Given the description of an element on the screen output the (x, y) to click on. 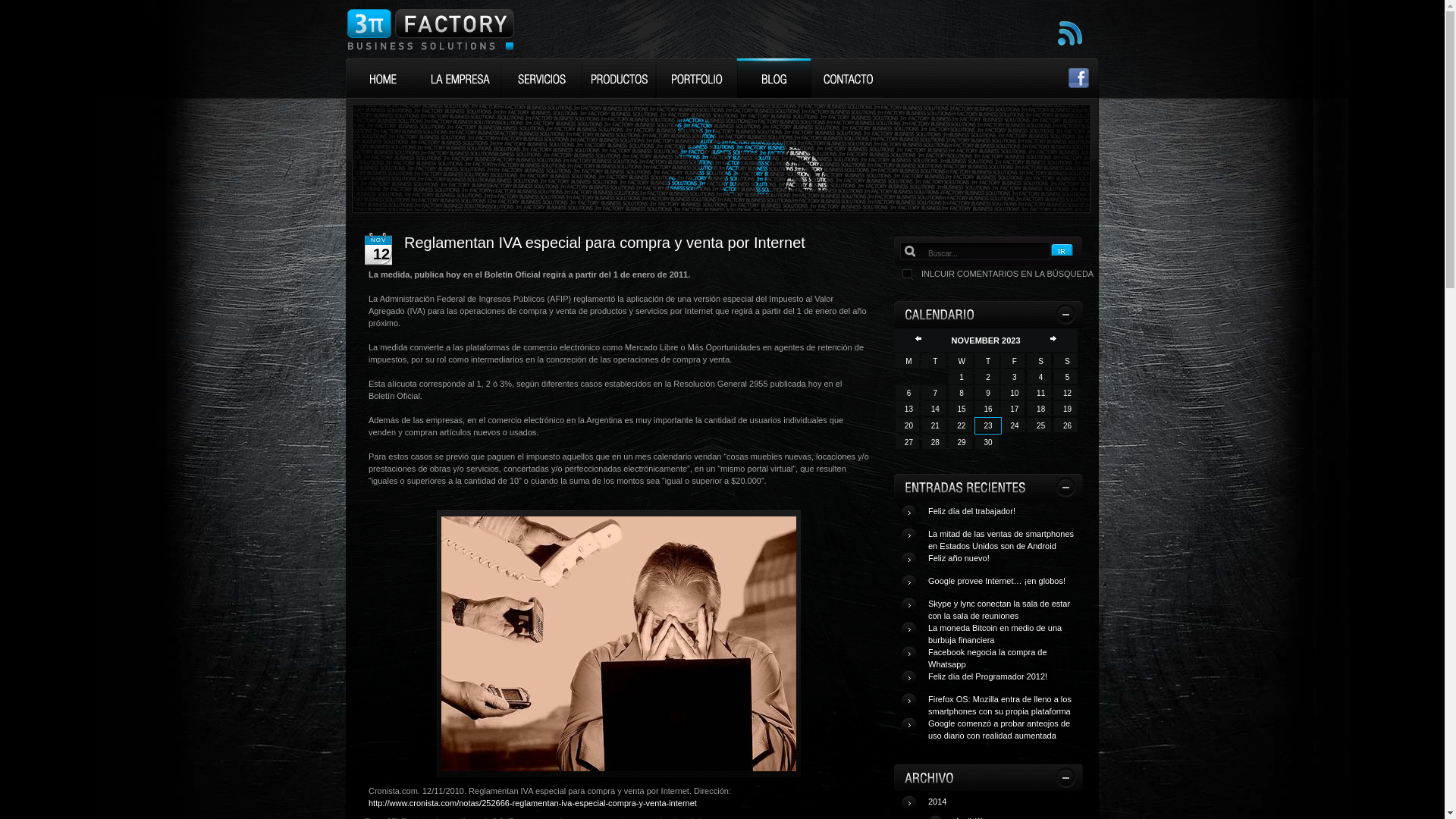
RSS Element type: hover (1069, 42)
Reglamentan IVA especial para compra y venta por Internet Element type: text (604, 242)
3Pi Factory Business Solutions Element type: text (429, 28)
La moneda Bitcoin en medio de una burbuja financiera Element type: text (994, 635)
Facebook negocia la compra de Whatsapp Element type: text (987, 659)
